Given the description of an element on the screen output the (x, y) to click on. 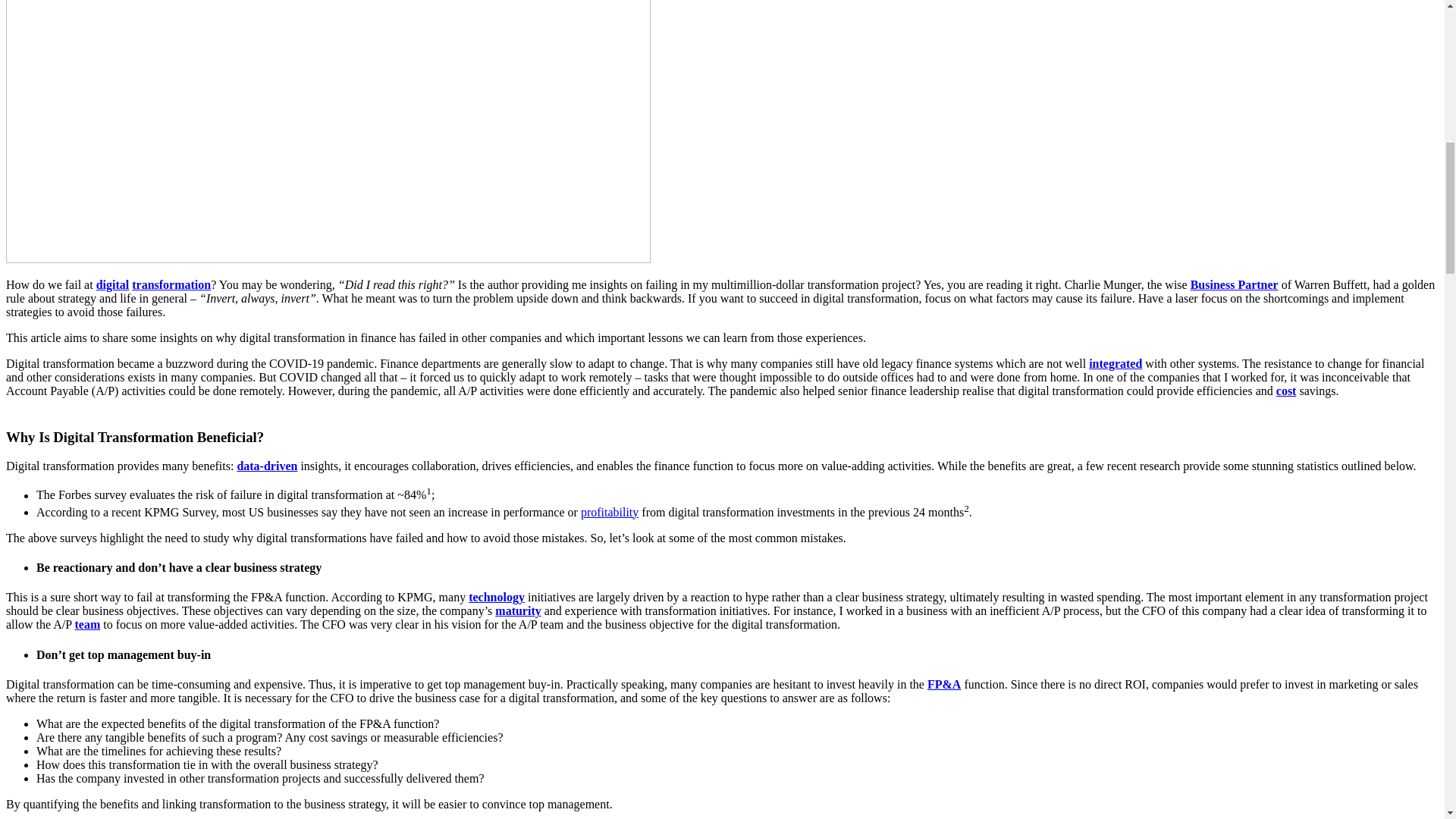
Business Partner (1234, 284)
transformation (171, 284)
digital (112, 284)
